Given the description of an element on the screen output the (x, y) to click on. 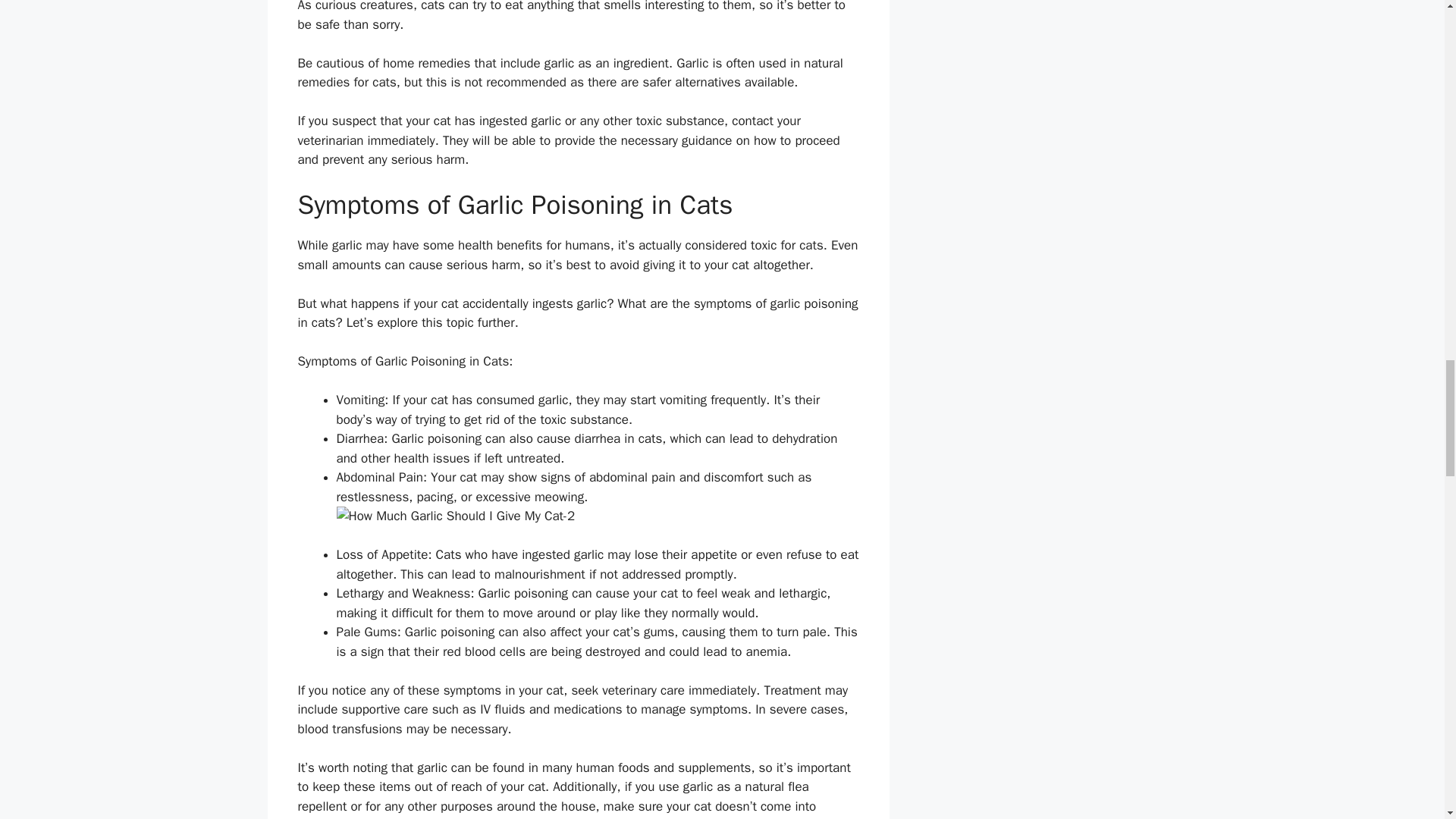
How Much Garlic Should I Give My Cat? (597, 516)
